Given the description of an element on the screen output the (x, y) to click on. 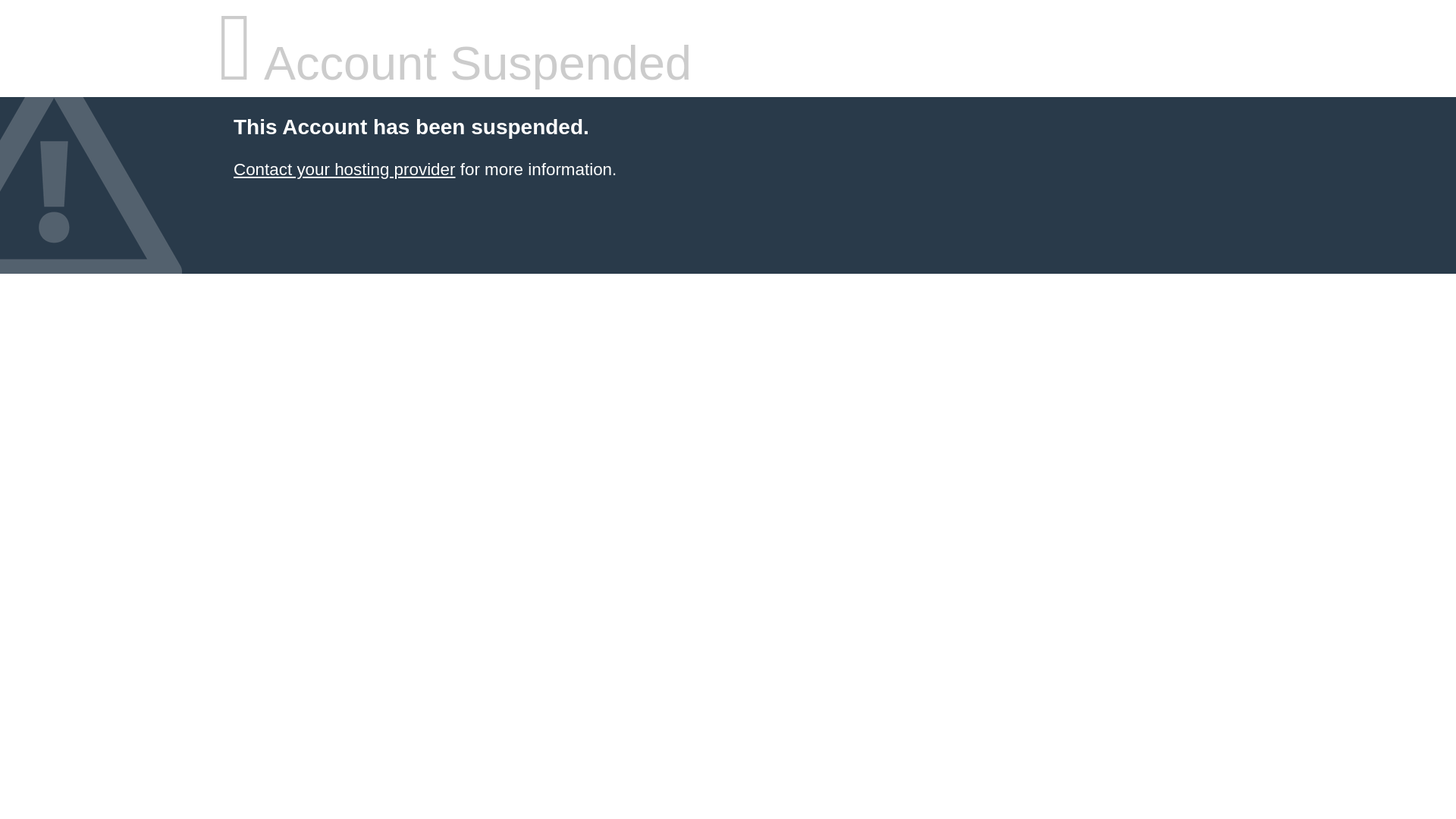
Contact your hosting provider Element type: text (344, 169)
